Given the description of an element on the screen output the (x, y) to click on. 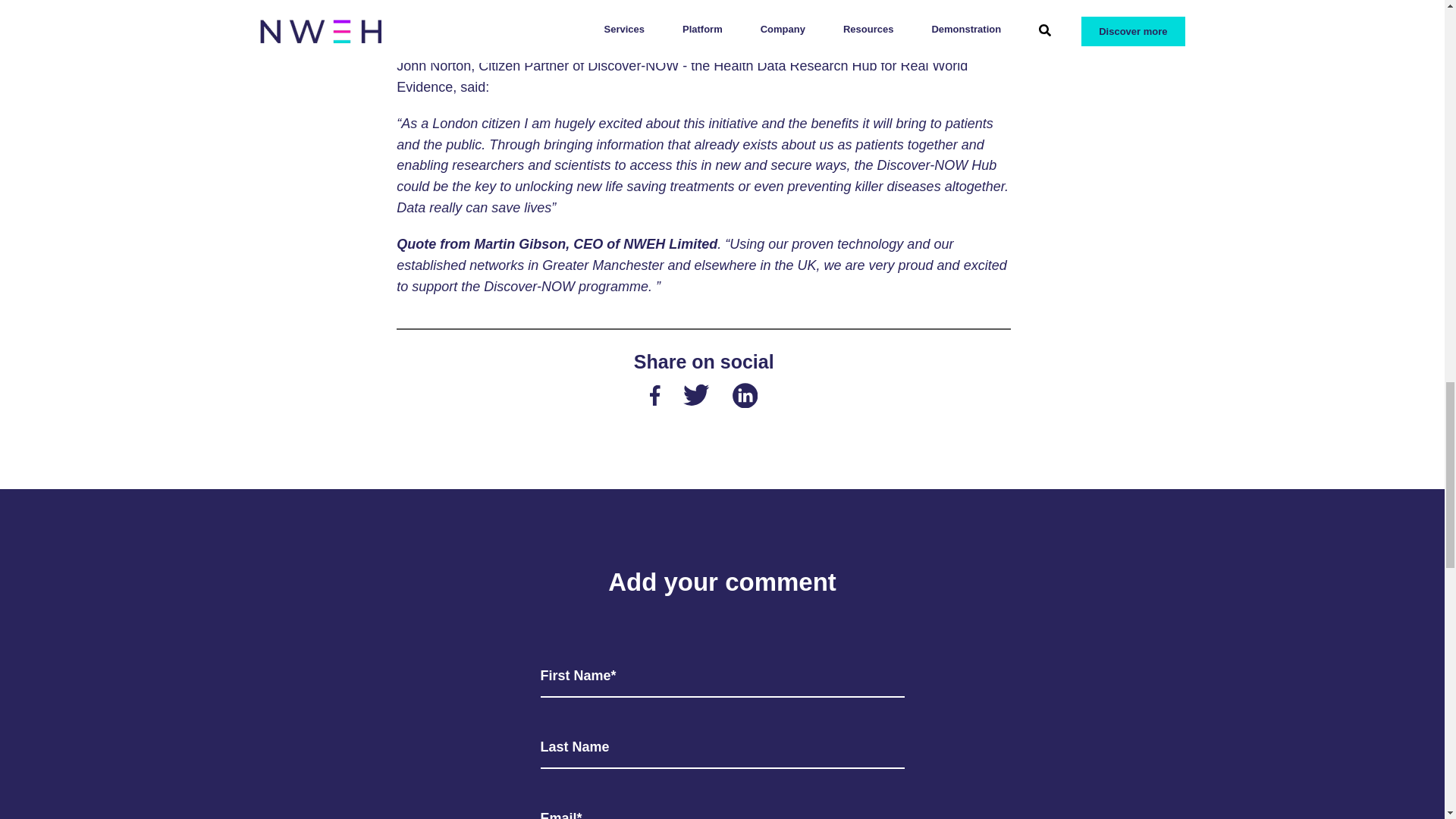
Share on LinkedIn (744, 398)
